Given the description of an element on the screen output the (x, y) to click on. 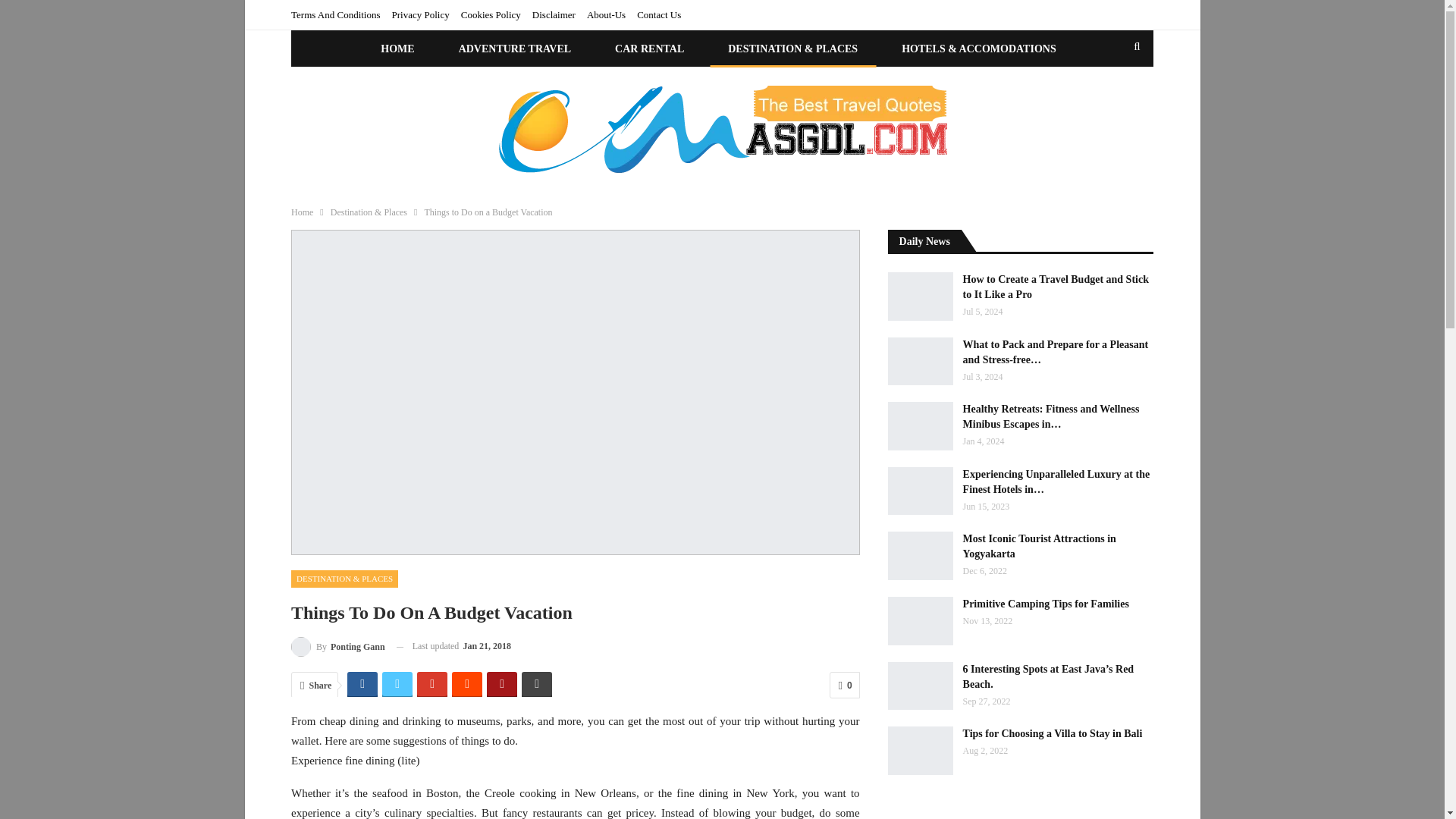
0 (844, 684)
CAR RENTAL (648, 48)
About-Us (606, 14)
Disclaimer (553, 14)
HOME (397, 48)
Contact Us (659, 14)
Privacy Policy (420, 14)
By Ponting Gann (338, 646)
Cookies Policy (491, 14)
VACATION (794, 85)
Home (302, 211)
Browse Author Articles (338, 646)
ADVENTURE TRAVEL (515, 48)
Terms And Conditions (335, 14)
